Given the description of an element on the screen output the (x, y) to click on. 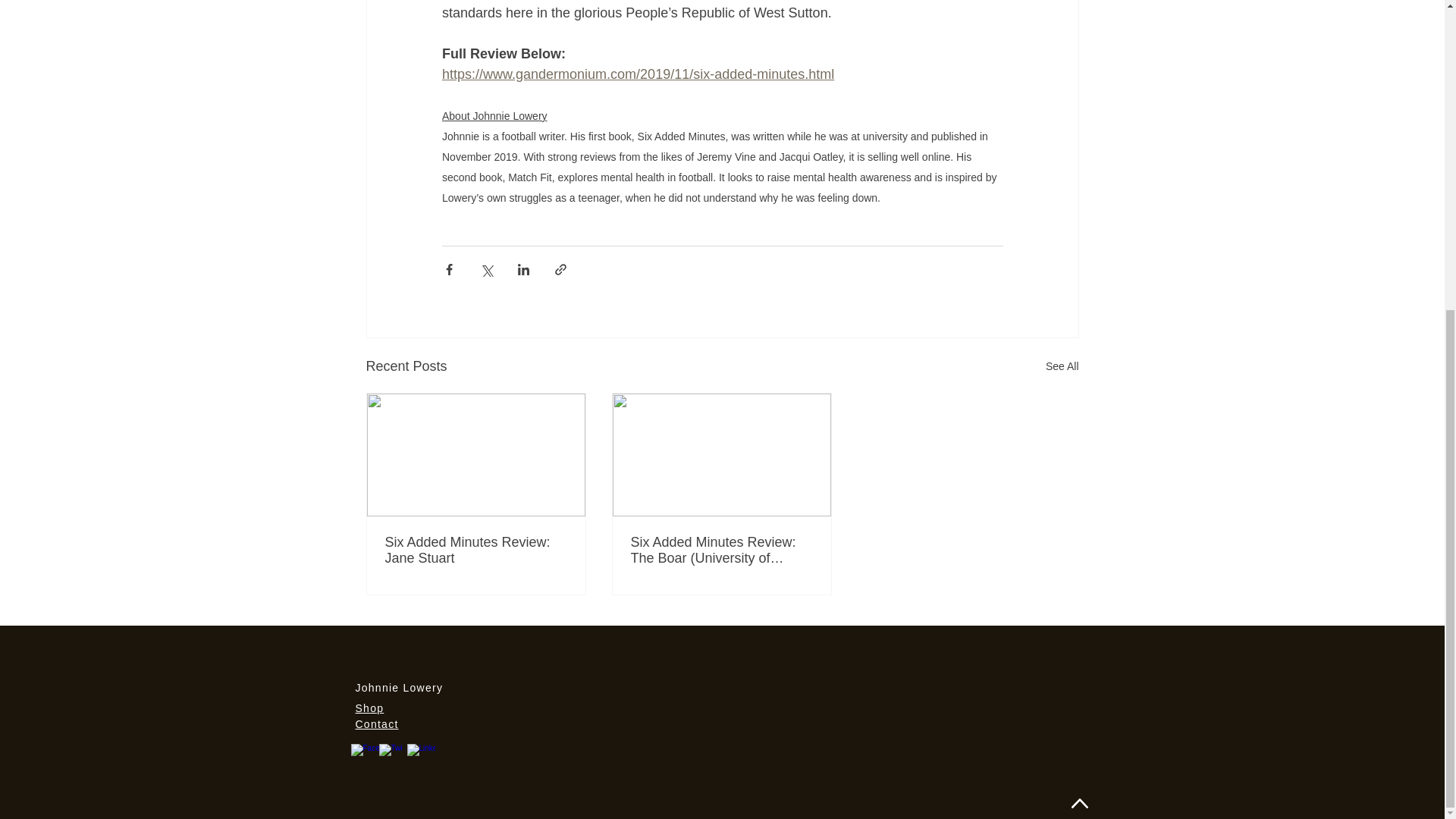
Shop (369, 707)
See All (1061, 366)
Six Added Minutes Review: Jane Stuart (476, 550)
Contact (376, 724)
